Given the description of an element on the screen output the (x, y) to click on. 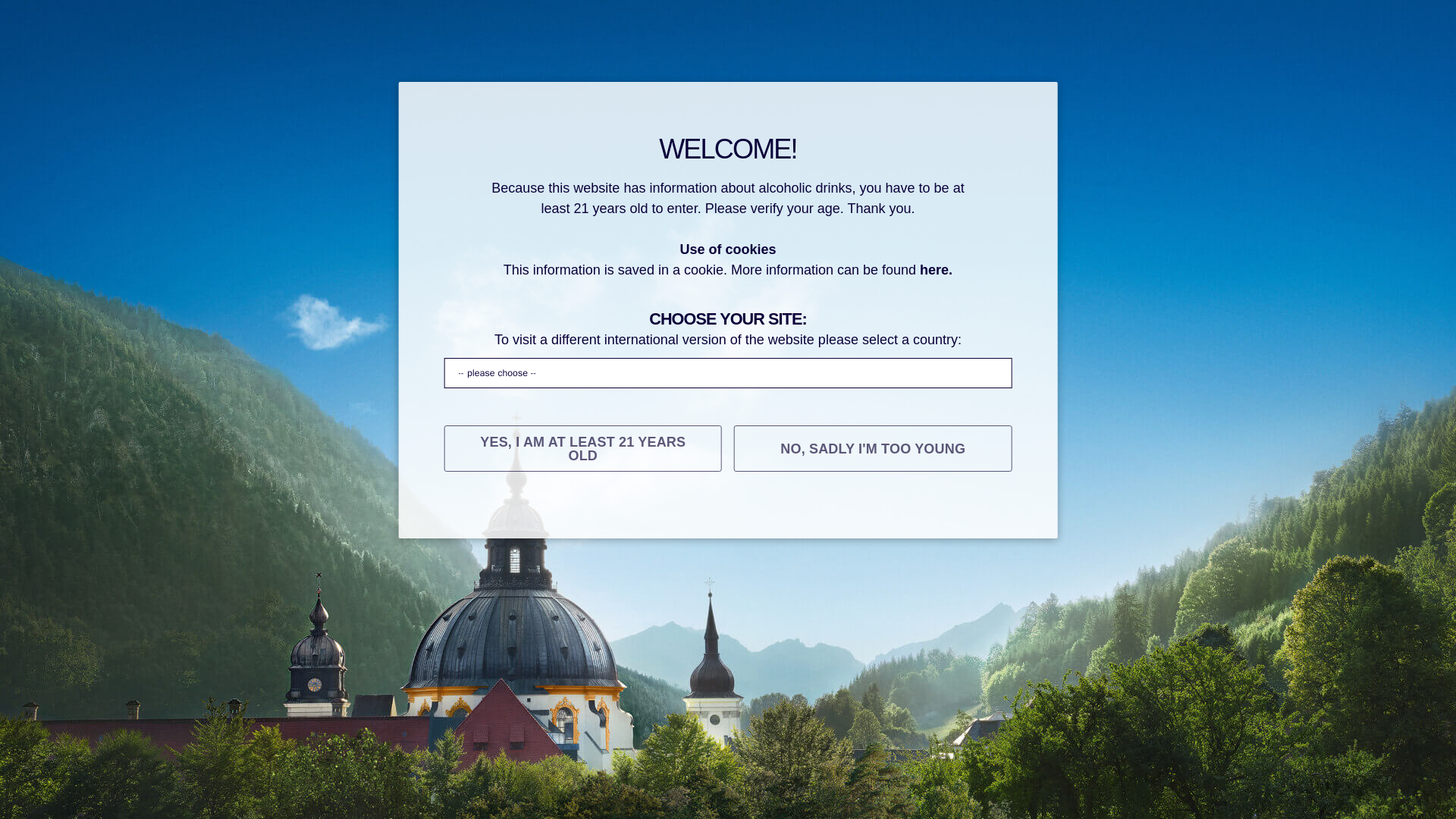
OUR BEERS (487, 515)
YES, I AM AT LEAST 21 YEARS OLD (583, 448)
OUR HISTORY (377, 515)
LIFE AT THE MONASTERY (637, 515)
NO, SADLY I'M TOO YOUNG (872, 448)
SHOP (1103, 515)
COMMITMENT (1009, 515)
EXPERIENCE THE GOOD LIFE (840, 515)
here. (936, 269)
